Given the description of an element on the screen output the (x, y) to click on. 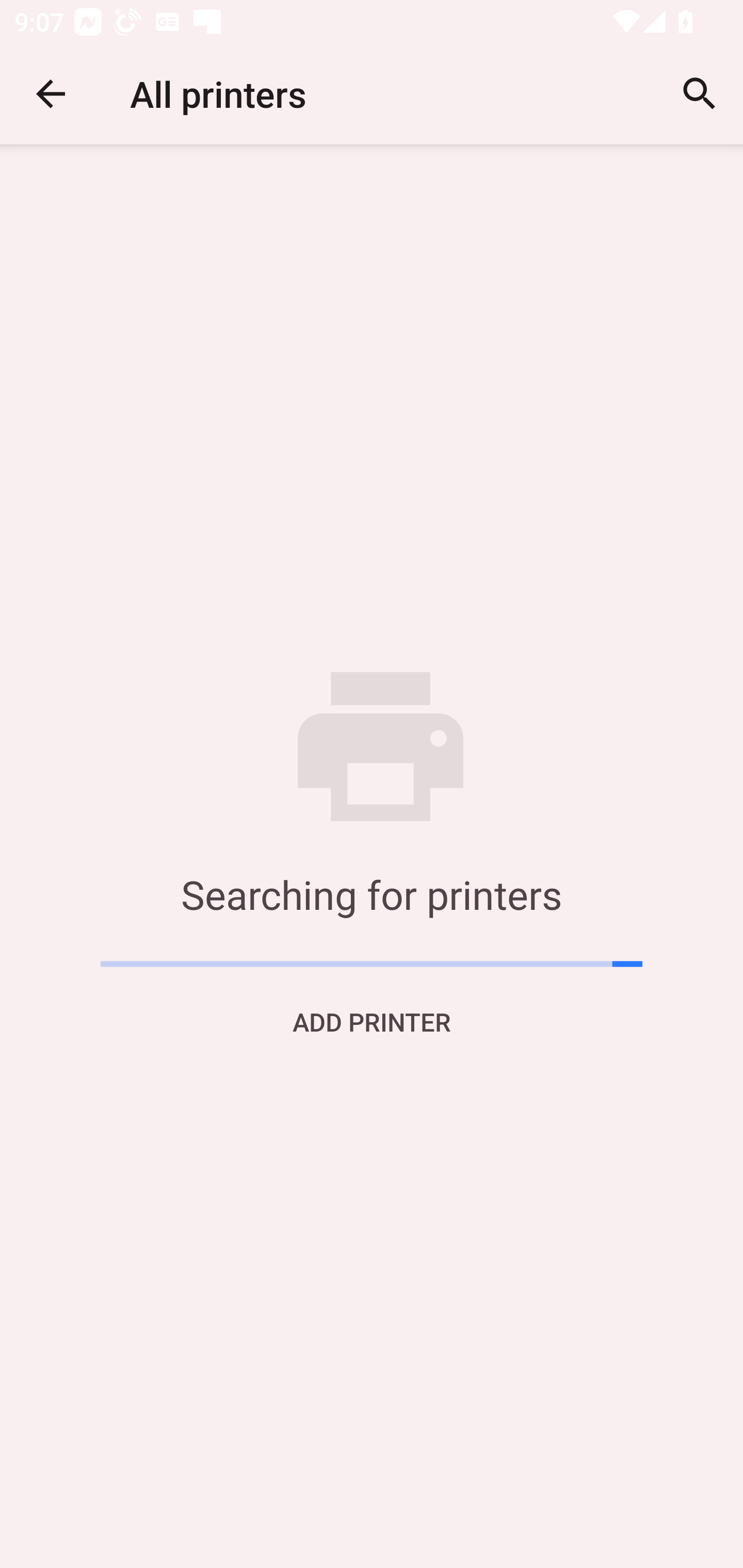
Navigate up (50, 93)
Search (699, 93)
ADD PRINTER (371, 1021)
